Given the description of an element on the screen output the (x, y) to click on. 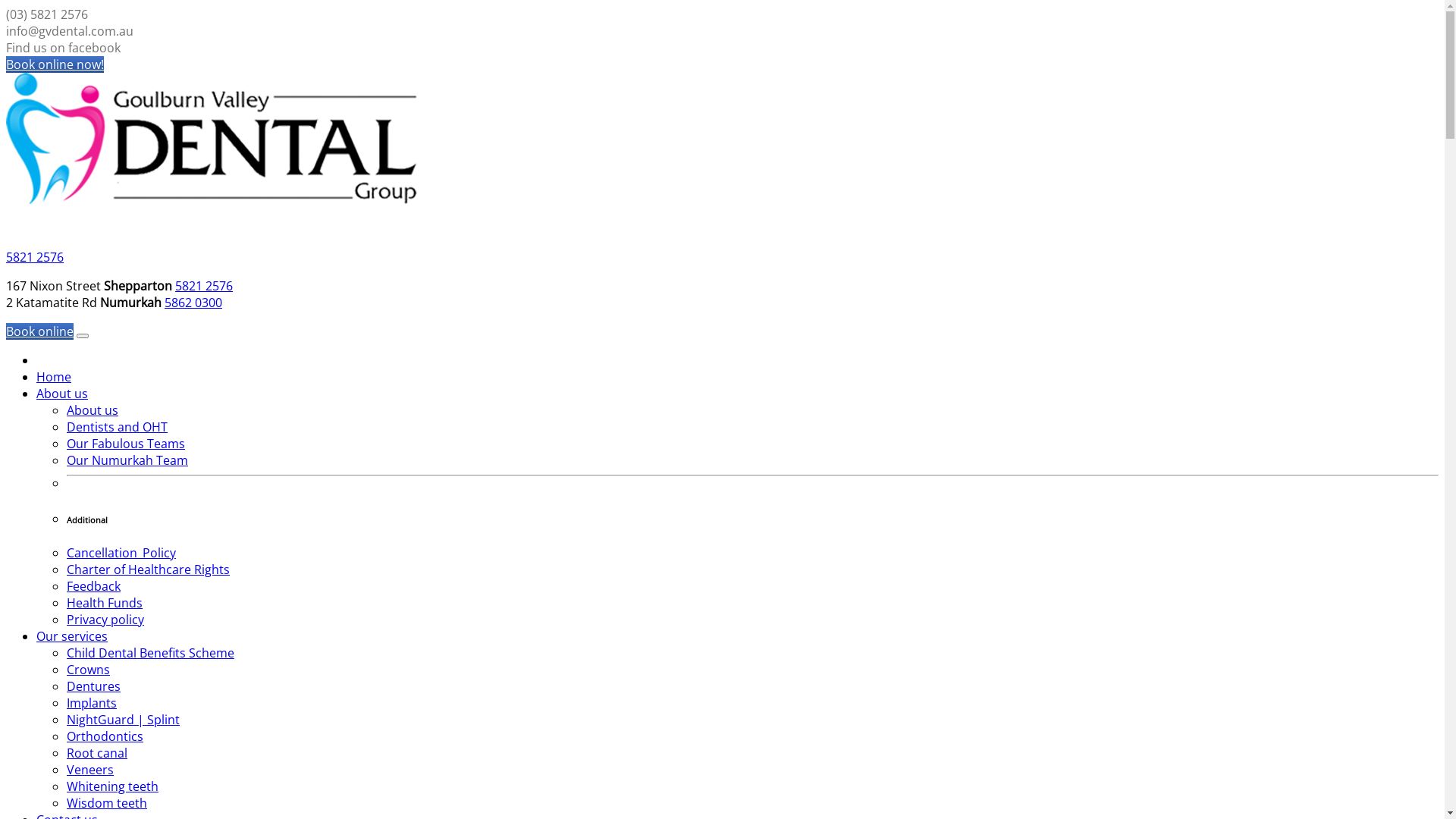
Book online Element type: text (39, 331)
Orthodontics Element type: text (104, 736)
5821 2576 Element type: text (203, 285)
Home Element type: text (53, 376)
5862 0300 Element type: text (193, 302)
Our services Element type: text (71, 635)
Child Dental Benefits Scheme Element type: text (150, 652)
About us Element type: text (92, 409)
Feedback Element type: text (93, 585)
Veneers Element type: text (89, 769)
Find us on facebook Element type: text (63, 47)
Wisdom teeth Element type: text (106, 802)
5821 2576 Element type: text (34, 256)
Crowns Element type: text (87, 669)
Implants Element type: text (91, 702)
About us Element type: text (61, 393)
Privacy policy Element type: text (105, 619)
Charter of Healthcare Rights Element type: text (147, 569)
Cancellation_Policy Element type: text (120, 552)
Our Fabulous Teams Element type: text (125, 443)
Dentists and OHT Element type: text (116, 426)
Dentures Element type: text (93, 685)
NightGuard | Splint Element type: text (122, 719)
Health Funds Element type: text (104, 602)
Our Numurkah Team Element type: text (127, 459)
Book online now! Element type: text (54, 64)
Root canal Element type: text (96, 752)
info@gvdental.com.au Element type: text (69, 30)
Whitening teeth Element type: text (112, 786)
(03) 5821 2576 Element type: text (46, 14)
